Given the description of an element on the screen output the (x, y) to click on. 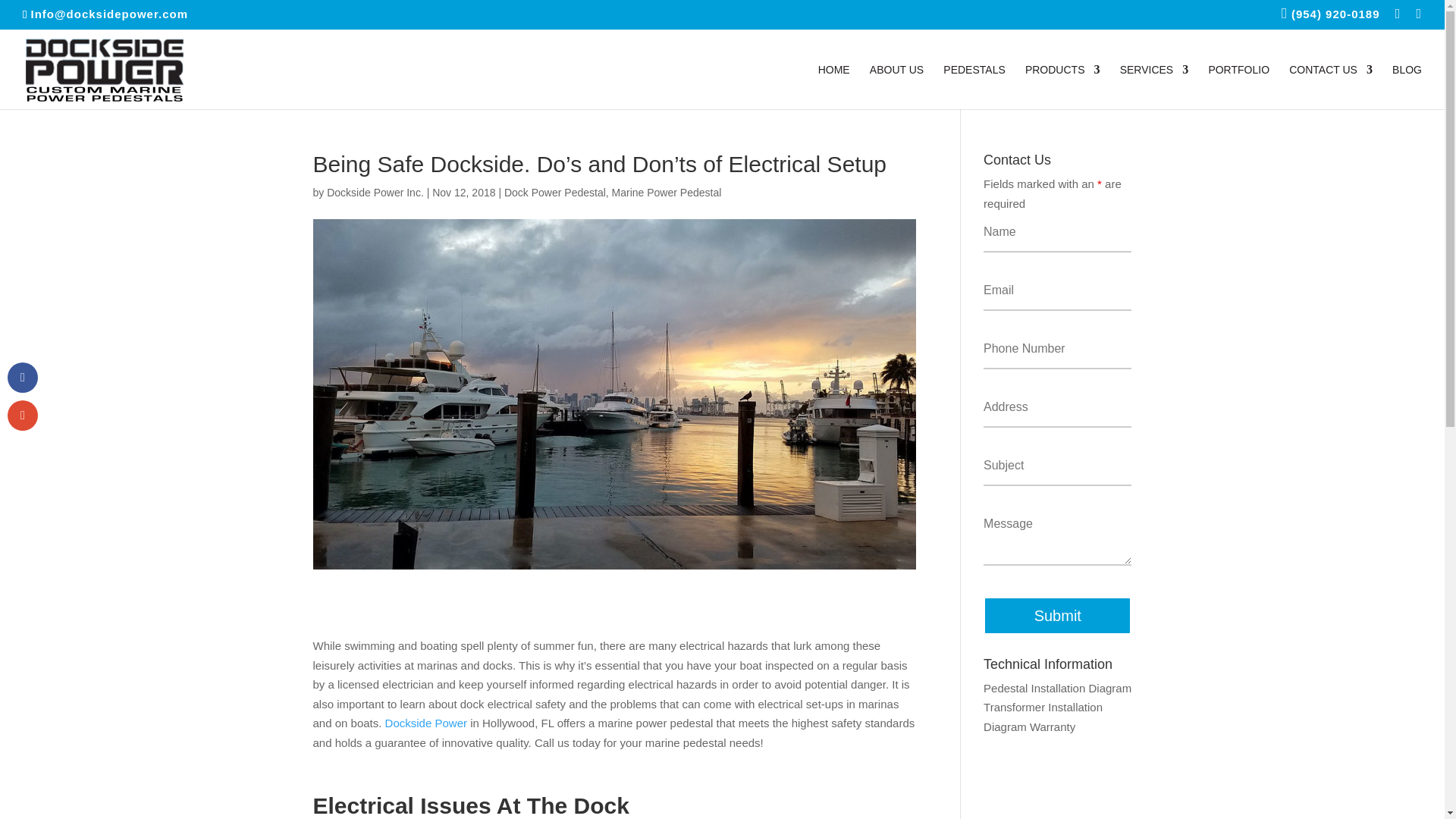
PEDESTALS (973, 86)
Pedestal Installation Diagram (1057, 686)
BLOG (1406, 86)
ABOUT US (896, 86)
Posts by Dockside Power Inc. (374, 192)
Facebook (1397, 18)
Dock Power Pedestal (554, 192)
Submit (1057, 614)
SERVICES (1154, 86)
PORTFOLIO (1238, 86)
Google (1418, 18)
Dockside Power (425, 722)
Marine Power Pedestal (666, 192)
Dockside Power Inc. (374, 192)
PRODUCTS (1062, 86)
